Given the description of an element on the screen output the (x, y) to click on. 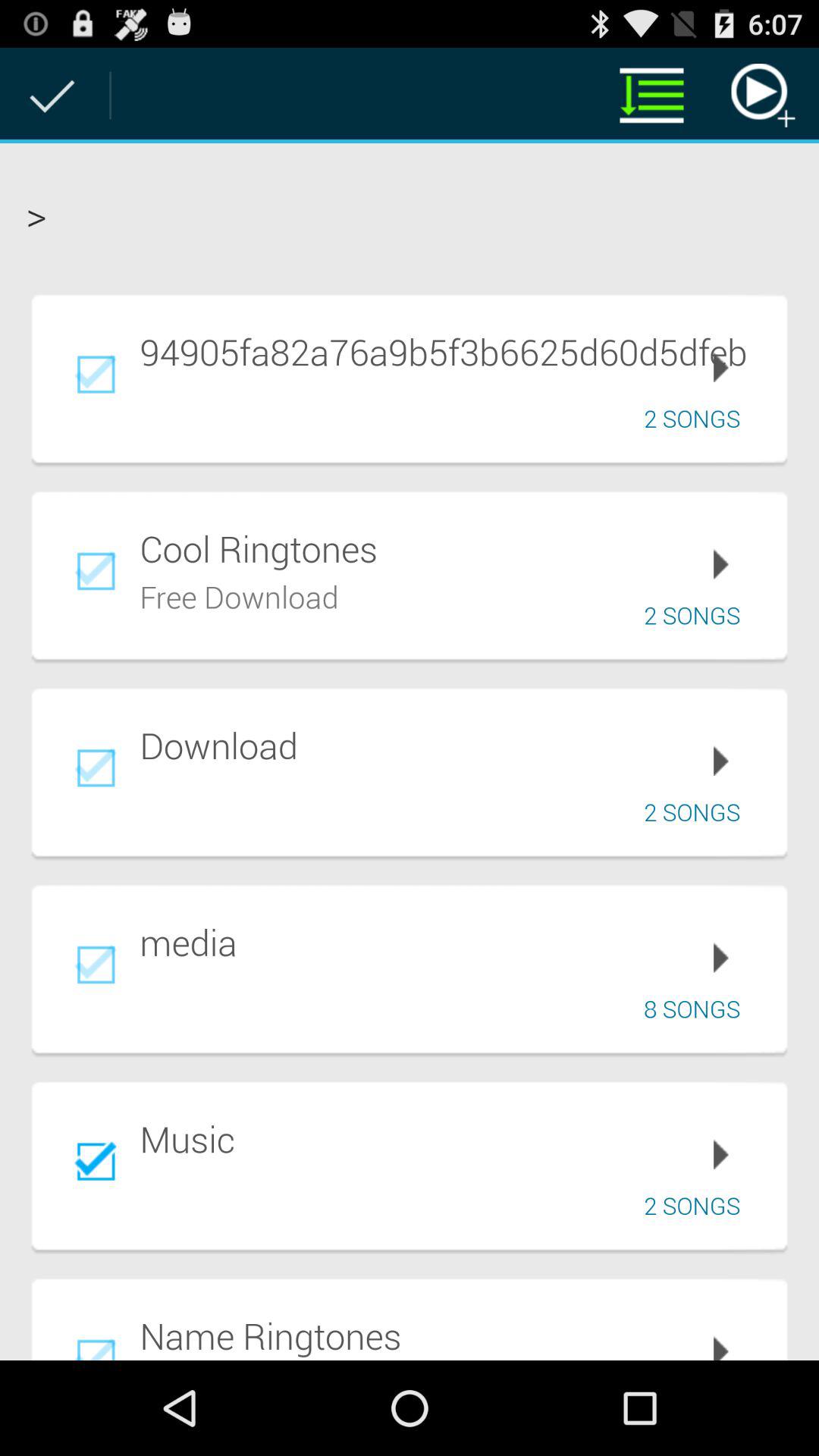
tap app to the left of the 2 songs app (238, 594)
